Given the description of an element on the screen output the (x, y) to click on. 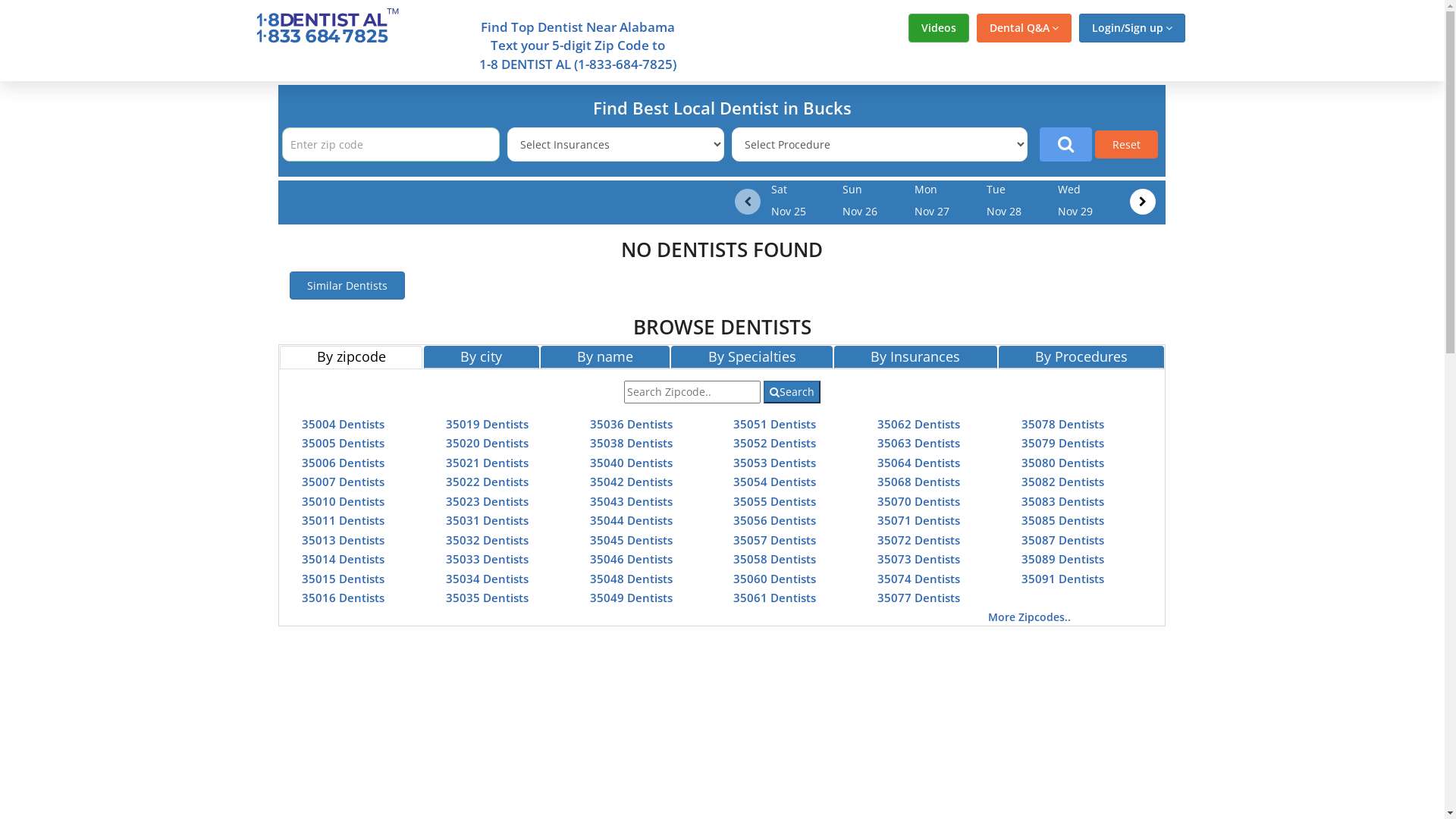
Advertisement Element type: hover (1313, 308)
35091 Dentists Element type: text (1062, 577)
35072 Dentists Element type: text (918, 539)
35080 Dentists Element type: text (1062, 462)
35006 Dentists Element type: text (342, 462)
35070 Dentists Element type: text (918, 500)
35046 Dentists Element type: text (630, 558)
By city Element type: text (481, 356)
35058 Dentists Element type: text (774, 558)
35007 Dentists Element type: text (342, 481)
35078 Dentists Element type: text (1062, 422)
35038 Dentists Element type: text (630, 442)
35049 Dentists Element type: text (630, 597)
Dental Q&A Element type: text (1023, 27)
35074 Dentists Element type: text (918, 577)
35082 Dentists Element type: text (1062, 481)
35016 Dentists Element type: text (342, 597)
By name Element type: text (605, 356)
35060 Dentists Element type: text (774, 577)
35004 Dentists Element type: text (342, 422)
Login/Sign up Element type: text (1131, 27)
35083 Dentists Element type: text (1062, 500)
35033 Dentists Element type: text (486, 558)
35010 Dentists Element type: text (342, 500)
35077 Dentists Element type: text (918, 597)
By zipcode Element type: text (350, 356)
35043 Dentists Element type: text (630, 500)
More Zipcodes.. Element type: text (1029, 616)
35034 Dentists Element type: text (486, 577)
35087 Dentists Element type: text (1062, 539)
35005 Dentists Element type: text (342, 442)
35044 Dentists Element type: text (630, 519)
35057 Dentists Element type: text (774, 539)
35014 Dentists Element type: text (342, 558)
35064 Dentists Element type: text (918, 462)
35040 Dentists Element type: text (630, 462)
Reset Element type: text (1126, 144)
By Specialties Element type: text (751, 356)
35020 Dentists Element type: text (486, 442)
35023 Dentists Element type: text (486, 500)
Advertisement Element type: hover (129, 308)
35063 Dentists Element type: text (918, 442)
35051 Dentists Element type: text (774, 422)
Search Element type: text (791, 391)
35031 Dentists Element type: text (486, 519)
35062 Dentists Element type: text (918, 422)
35011 Dentists Element type: text (342, 519)
35056 Dentists Element type: text (774, 519)
35053 Dentists Element type: text (774, 462)
35045 Dentists Element type: text (630, 539)
35071 Dentists Element type: text (918, 519)
35021 Dentists Element type: text (486, 462)
35032 Dentists Element type: text (486, 539)
35035 Dentists Element type: text (486, 597)
35048 Dentists Element type: text (630, 577)
By Procedures Element type: text (1081, 356)
35068 Dentists Element type: text (918, 481)
35054 Dentists Element type: text (774, 481)
35019 Dentists Element type: text (486, 422)
35073 Dentists Element type: text (918, 558)
35015 Dentists Element type: text (342, 577)
35079 Dentists Element type: text (1062, 442)
35061 Dentists Element type: text (774, 597)
Videos Element type: text (938, 27)
35022 Dentists Element type: text (486, 481)
35042 Dentists Element type: text (630, 481)
35052 Dentists Element type: text (774, 442)
35089 Dentists Element type: text (1062, 558)
By Insurances Element type: text (915, 356)
35036 Dentists Element type: text (630, 422)
Similar Dentists Element type: text (346, 285)
35013 Dentists Element type: text (342, 539)
35085 Dentists Element type: text (1062, 519)
35055 Dentists Element type: text (774, 500)
